Given the description of an element on the screen output the (x, y) to click on. 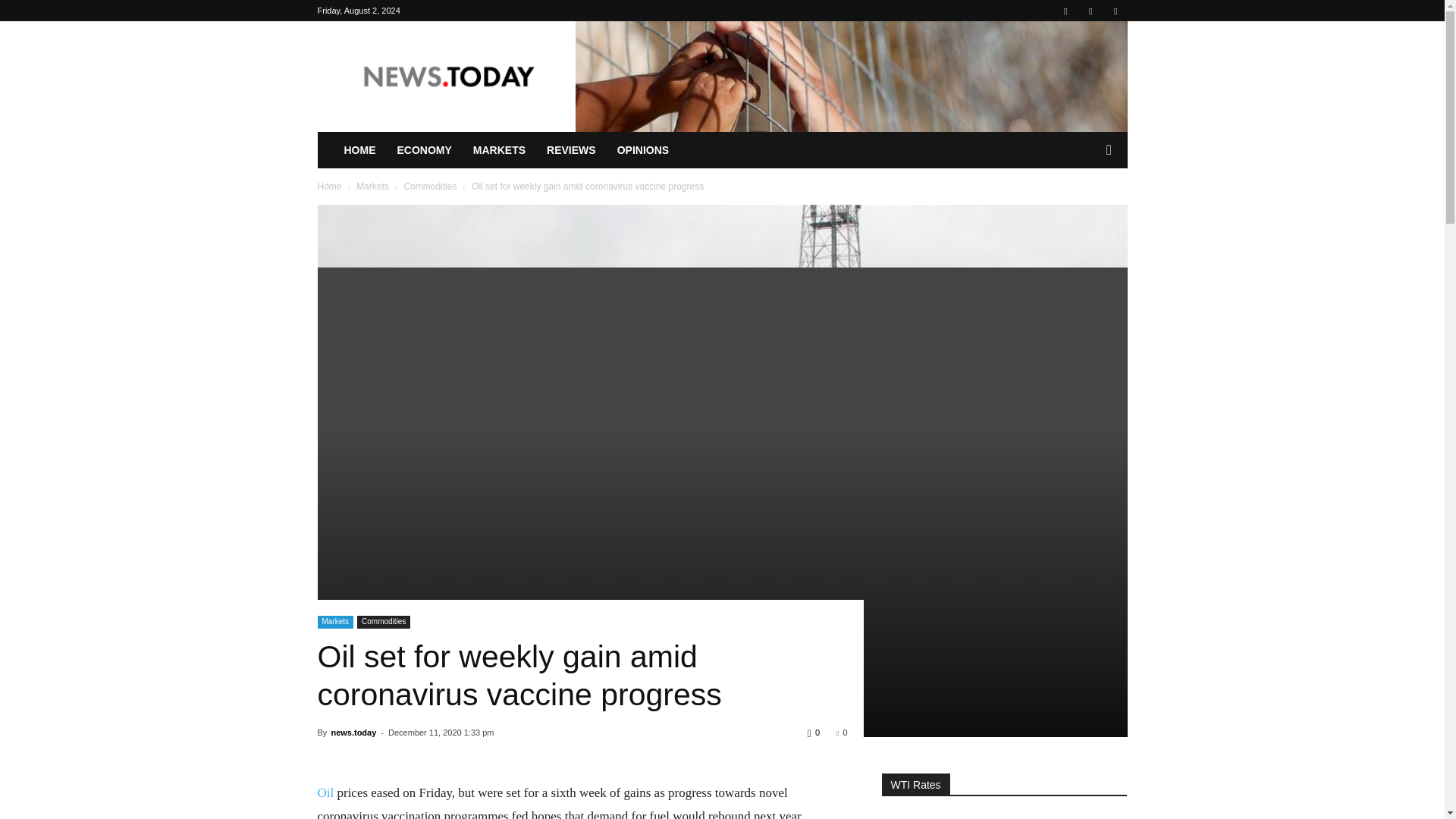
HOME (360, 149)
Facebook (1065, 10)
News.today (445, 76)
RSS (1090, 10)
ECONOMY (425, 149)
Twitter (1114, 10)
